Given the description of an element on the screen output the (x, y) to click on. 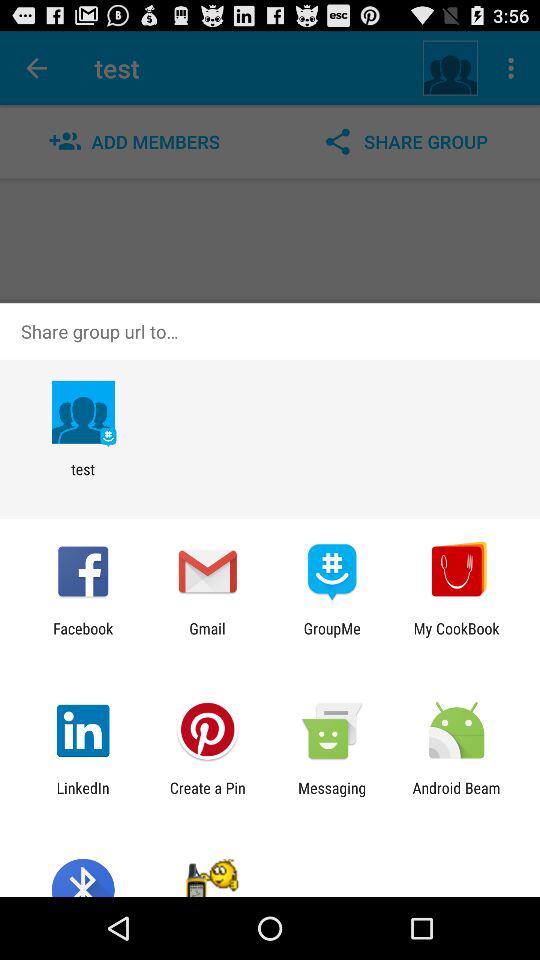
turn off item to the right of the linkedin (207, 796)
